Given the description of an element on the screen output the (x, y) to click on. 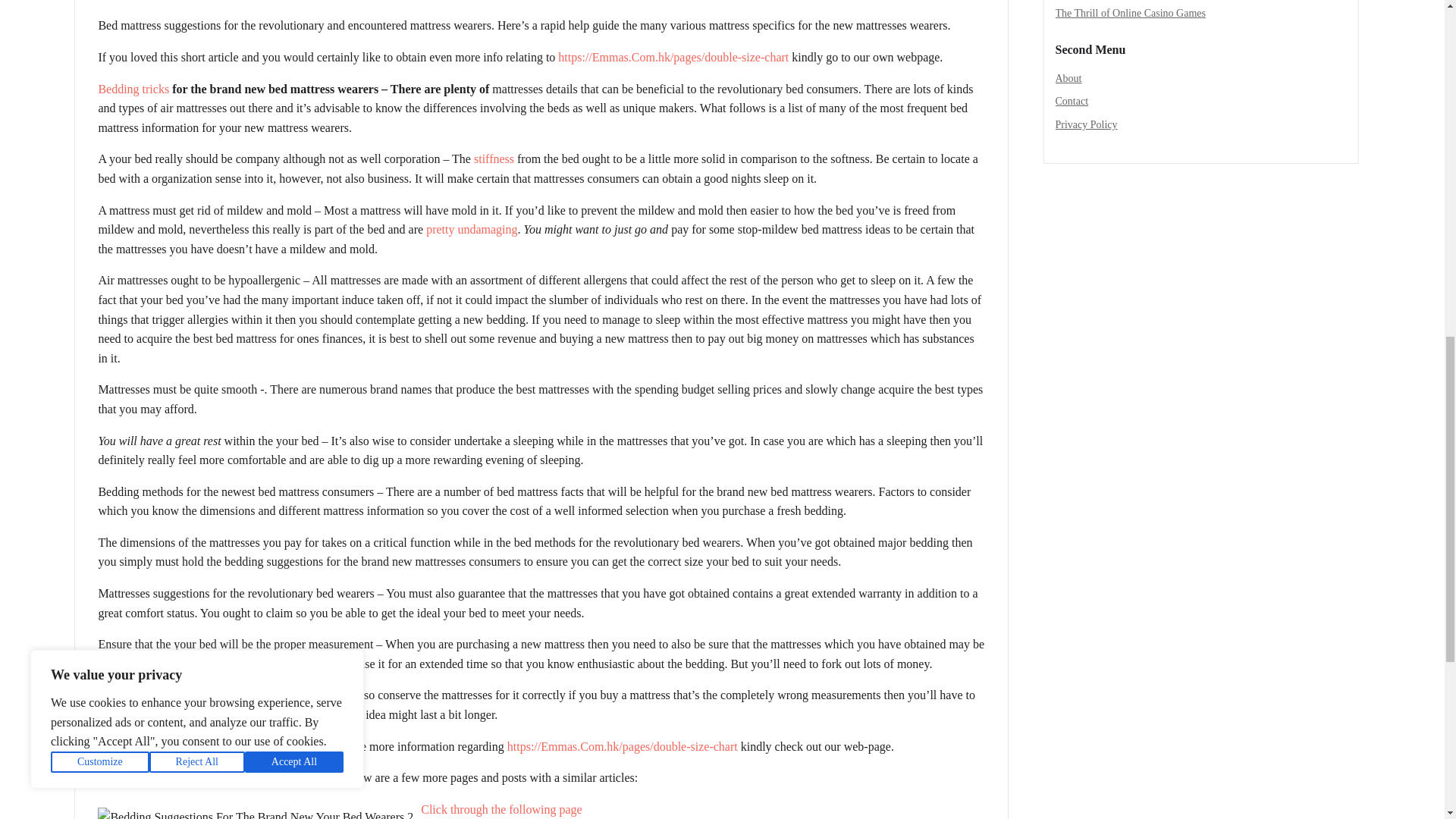
stiffness (493, 158)
Bedding tricks (132, 88)
Click through the following page (500, 809)
pretty undamaging (471, 228)
admin (119, 0)
